Given the description of an element on the screen output the (x, y) to click on. 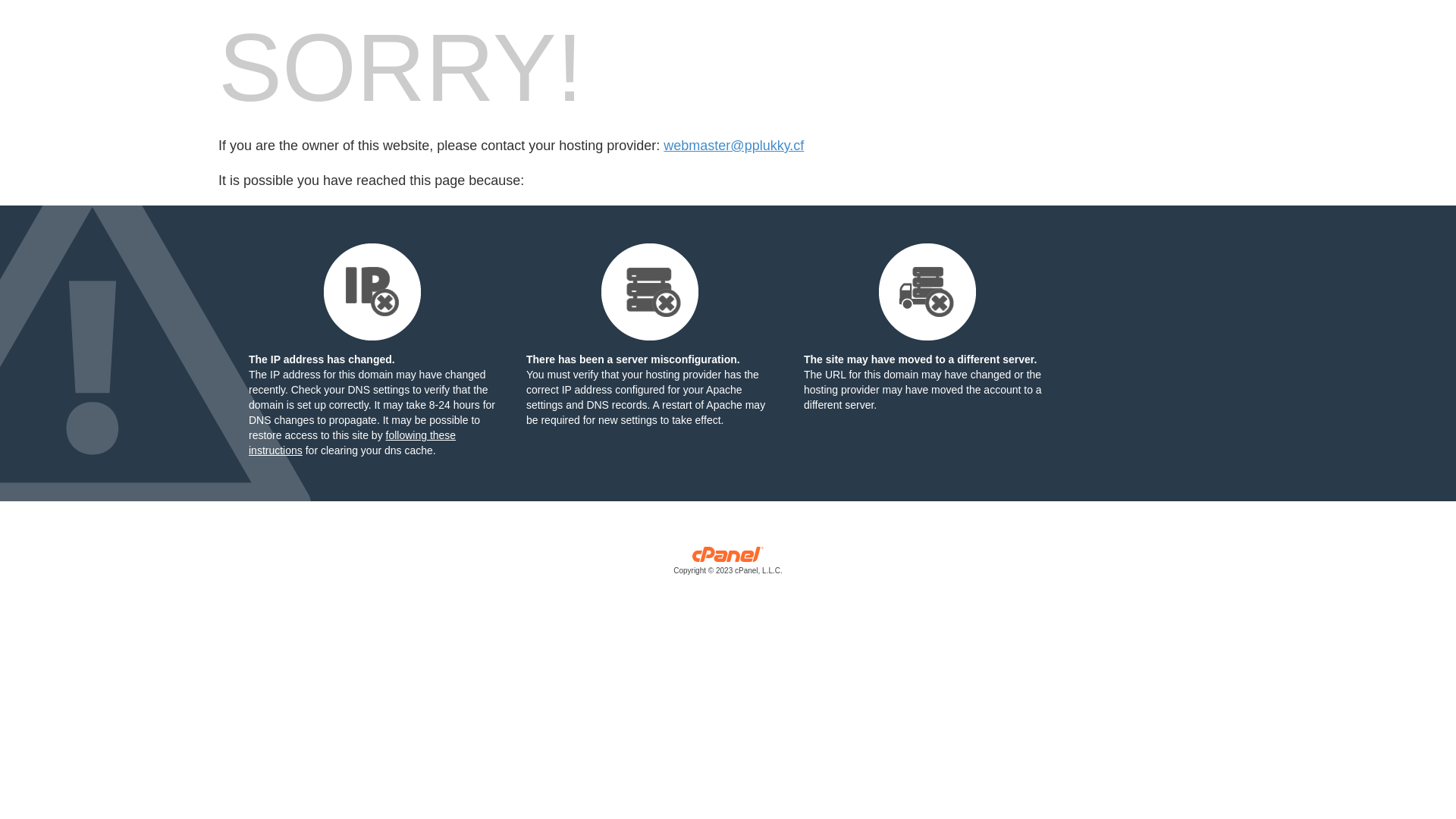
webmaster@pplukky.cf Element type: text (733, 145)
following these instructions Element type: text (351, 442)
